Given the description of an element on the screen output the (x, y) to click on. 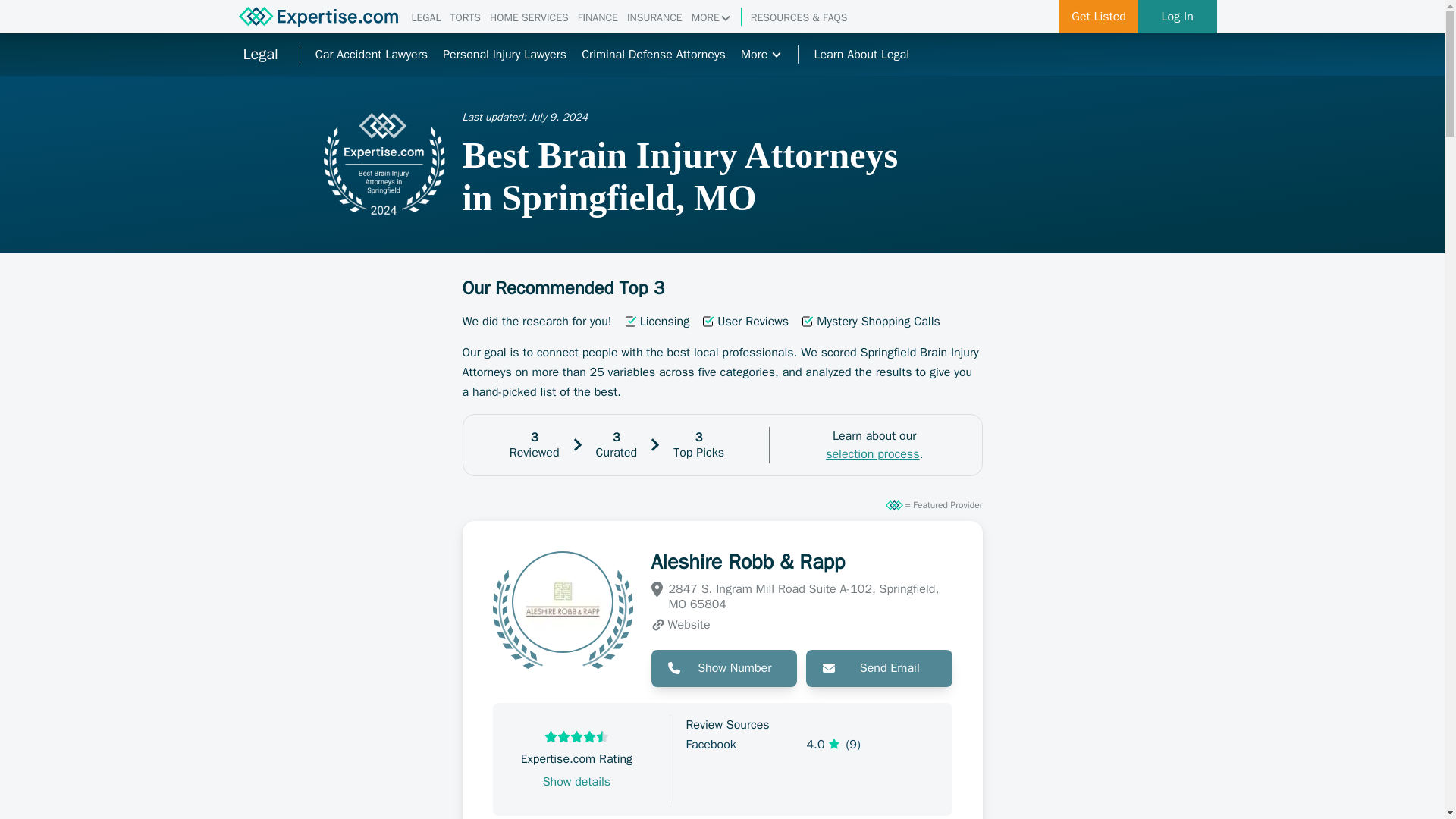
INSURANCE (654, 17)
TORTS (464, 17)
More (762, 54)
Log In (1177, 16)
Personal Injury Lawyers (504, 54)
FINANCE (597, 17)
Criminal Defense Attorneys (652, 54)
Get Listed (1098, 16)
MORE (711, 17)
LEGAL (425, 17)
Legal (259, 53)
Car Accident Lawyers (371, 54)
HOME SERVICES (529, 17)
